Given the description of an element on the screen output the (x, y) to click on. 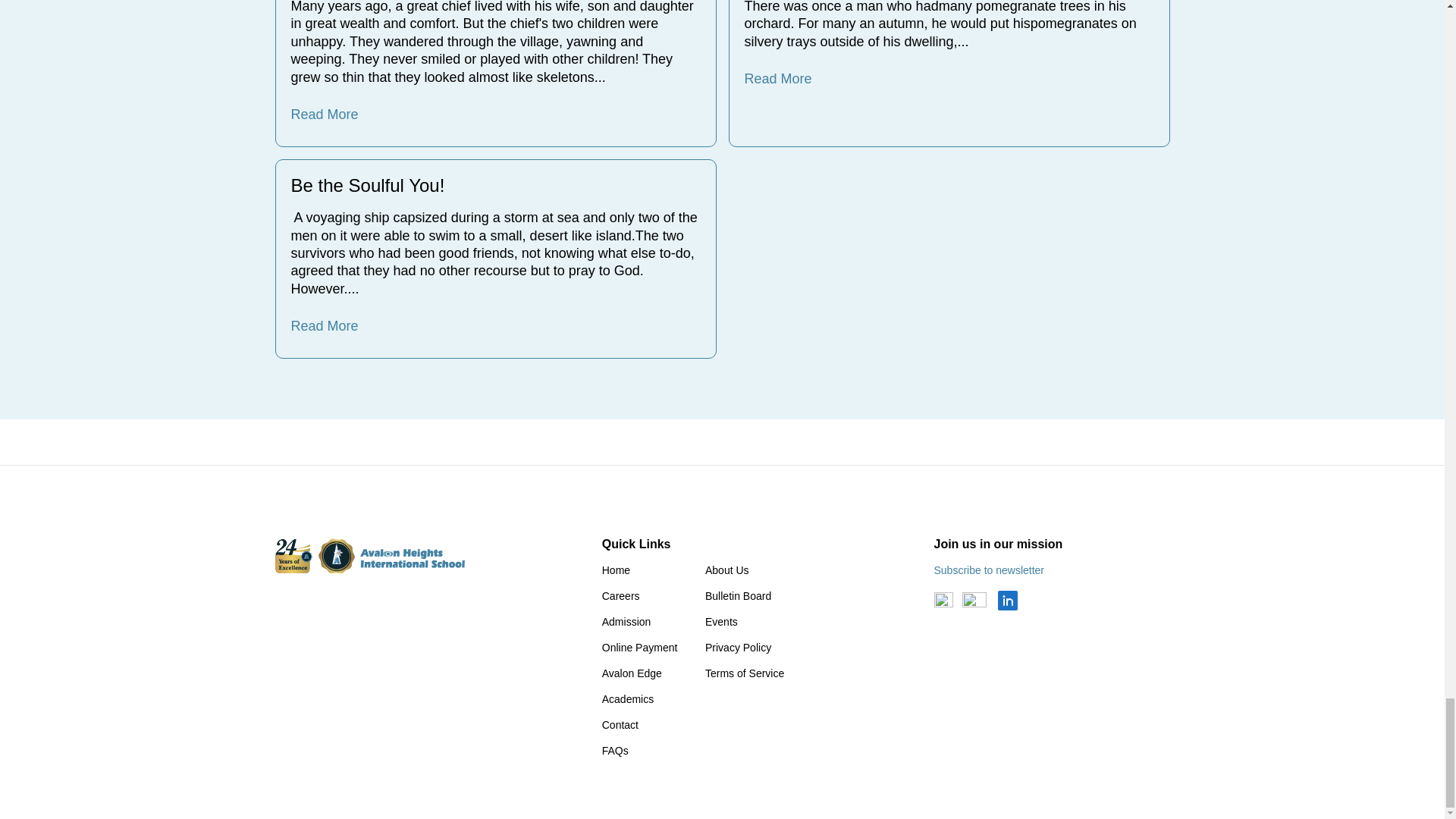
Contact (620, 725)
Academics (627, 698)
Avalon Edge (632, 673)
Home (616, 570)
FAQs (615, 750)
Admission (626, 621)
Careers (621, 595)
Online Payment (640, 647)
